Given the description of an element on the screen output the (x, y) to click on. 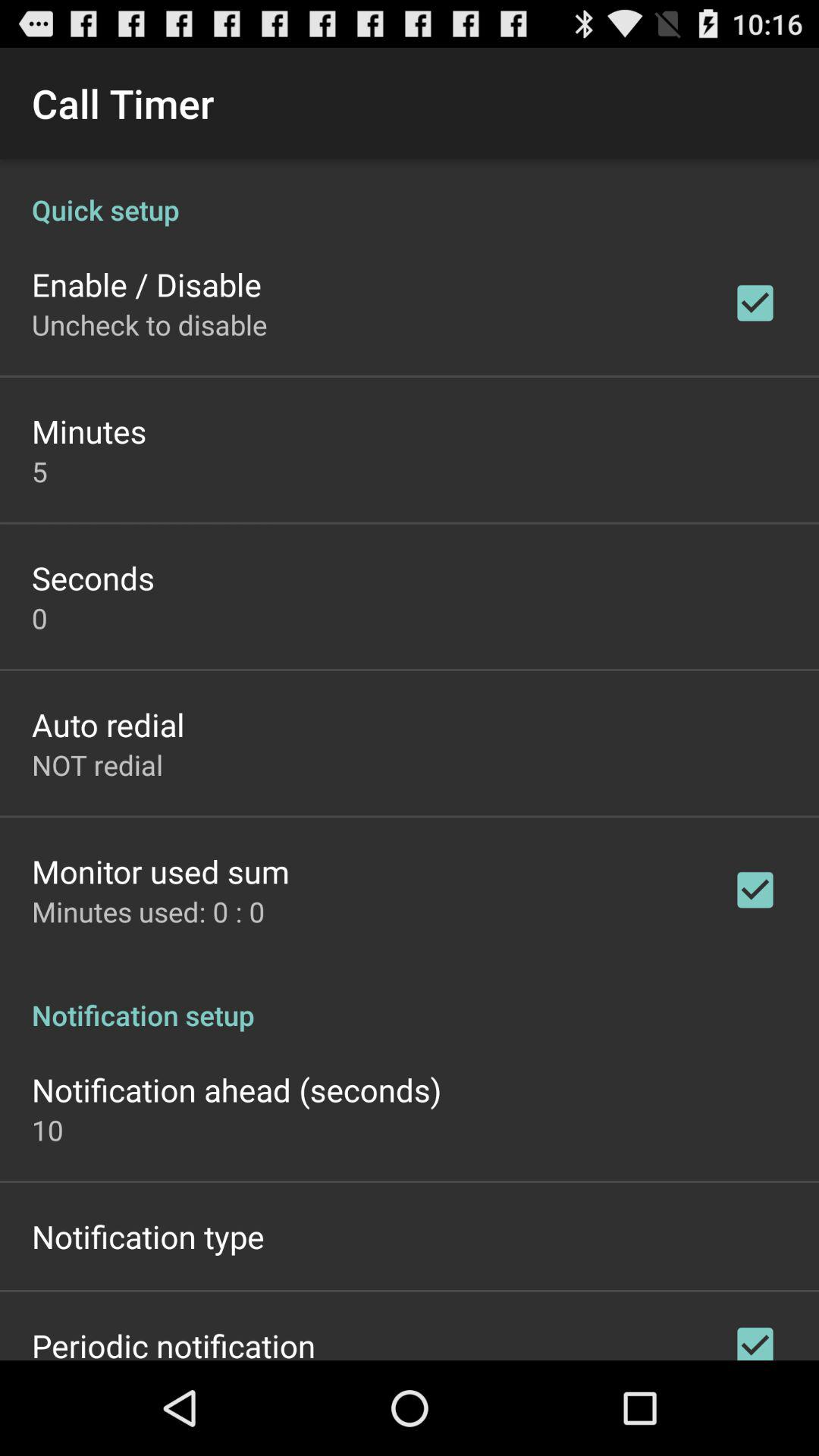
open not redial item (97, 764)
